Given the description of an element on the screen output the (x, y) to click on. 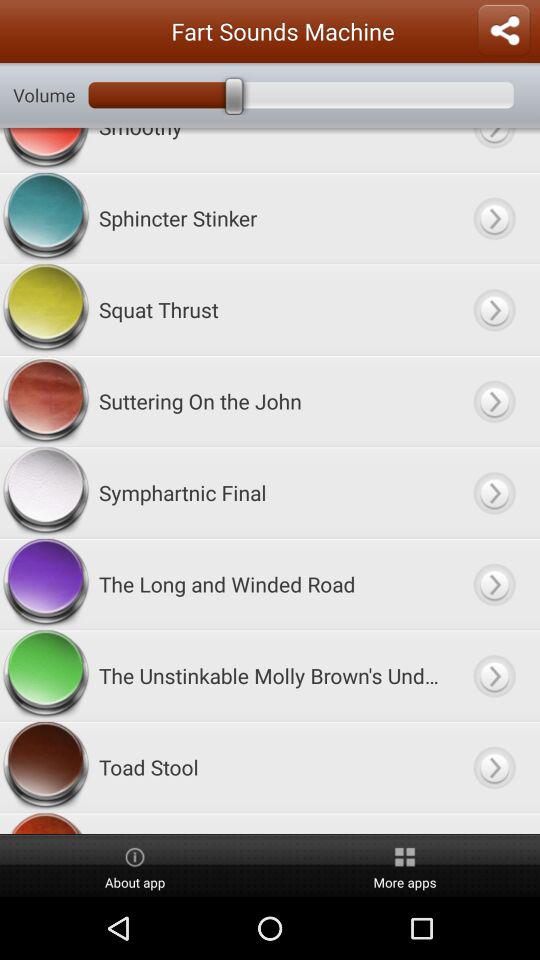
click the button next to more apps button (135, 866)
